Given the description of an element on the screen output the (x, y) to click on. 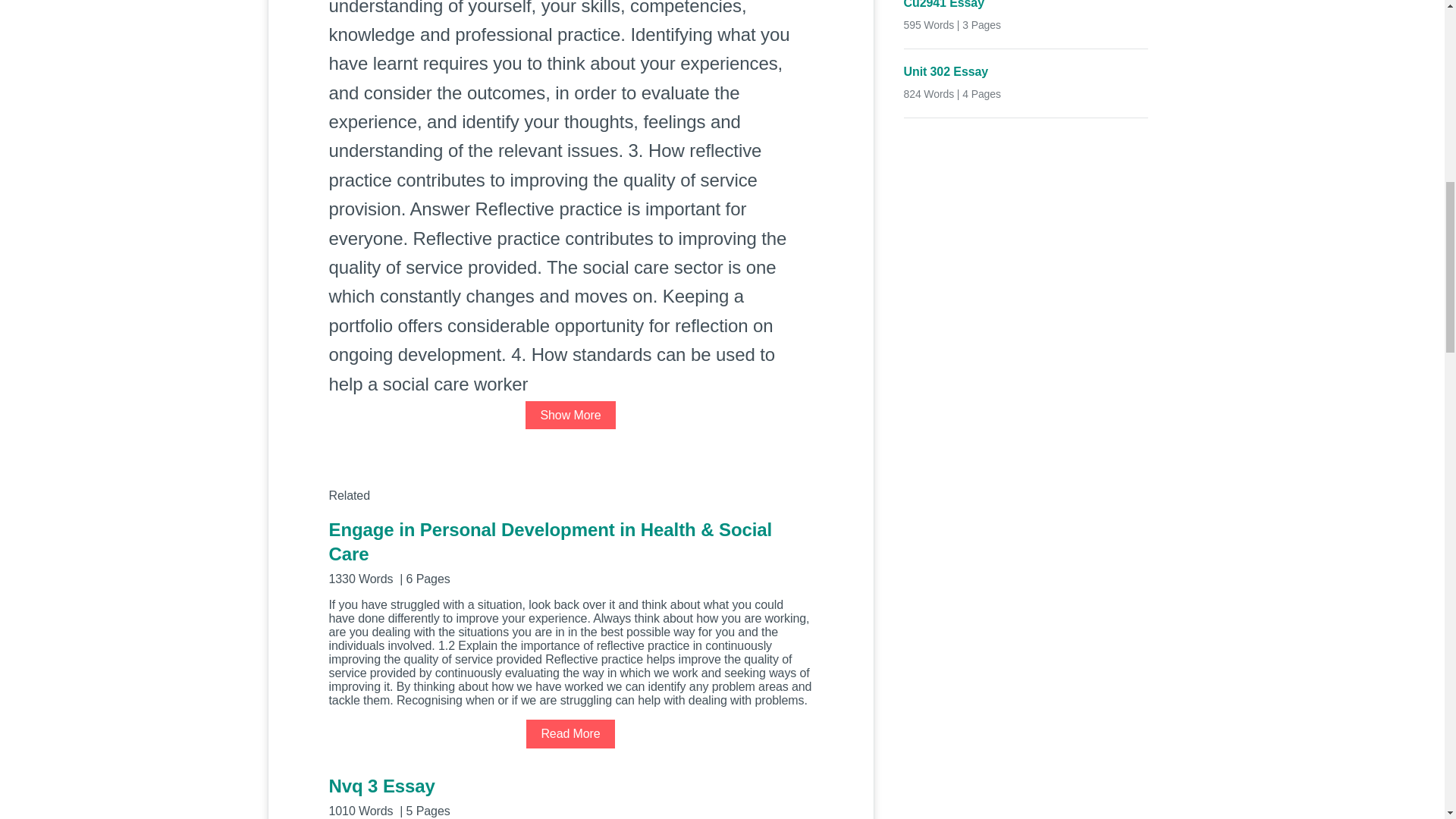
Unit 302 Essay (1026, 71)
Read More (569, 733)
Show More (569, 415)
Cu2941 Essay (1026, 6)
Nvq 3 Essay (570, 795)
